Given the description of an element on the screen output the (x, y) to click on. 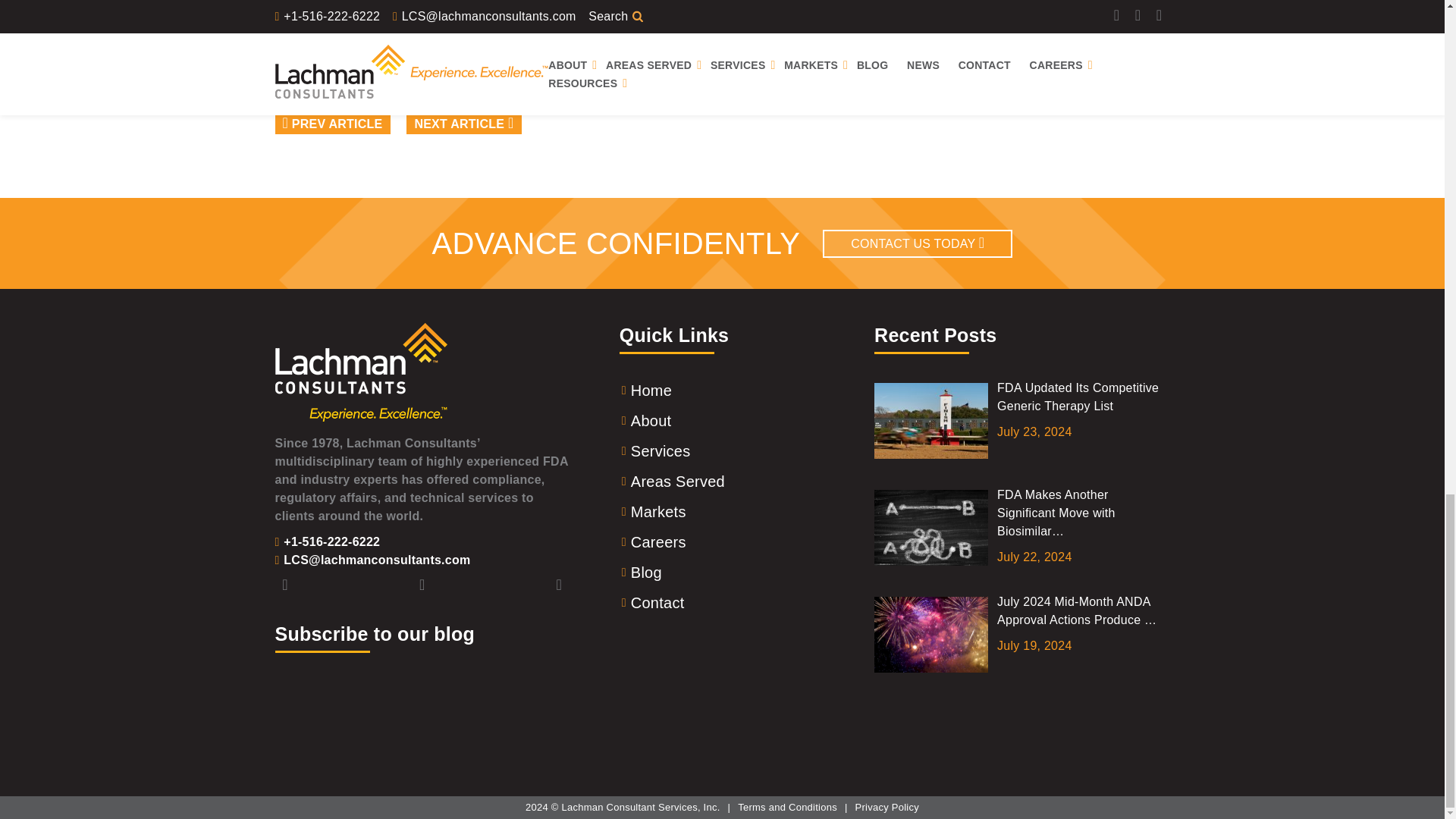
Form 1 (422, 710)
